Given the description of an element on the screen output the (x, y) to click on. 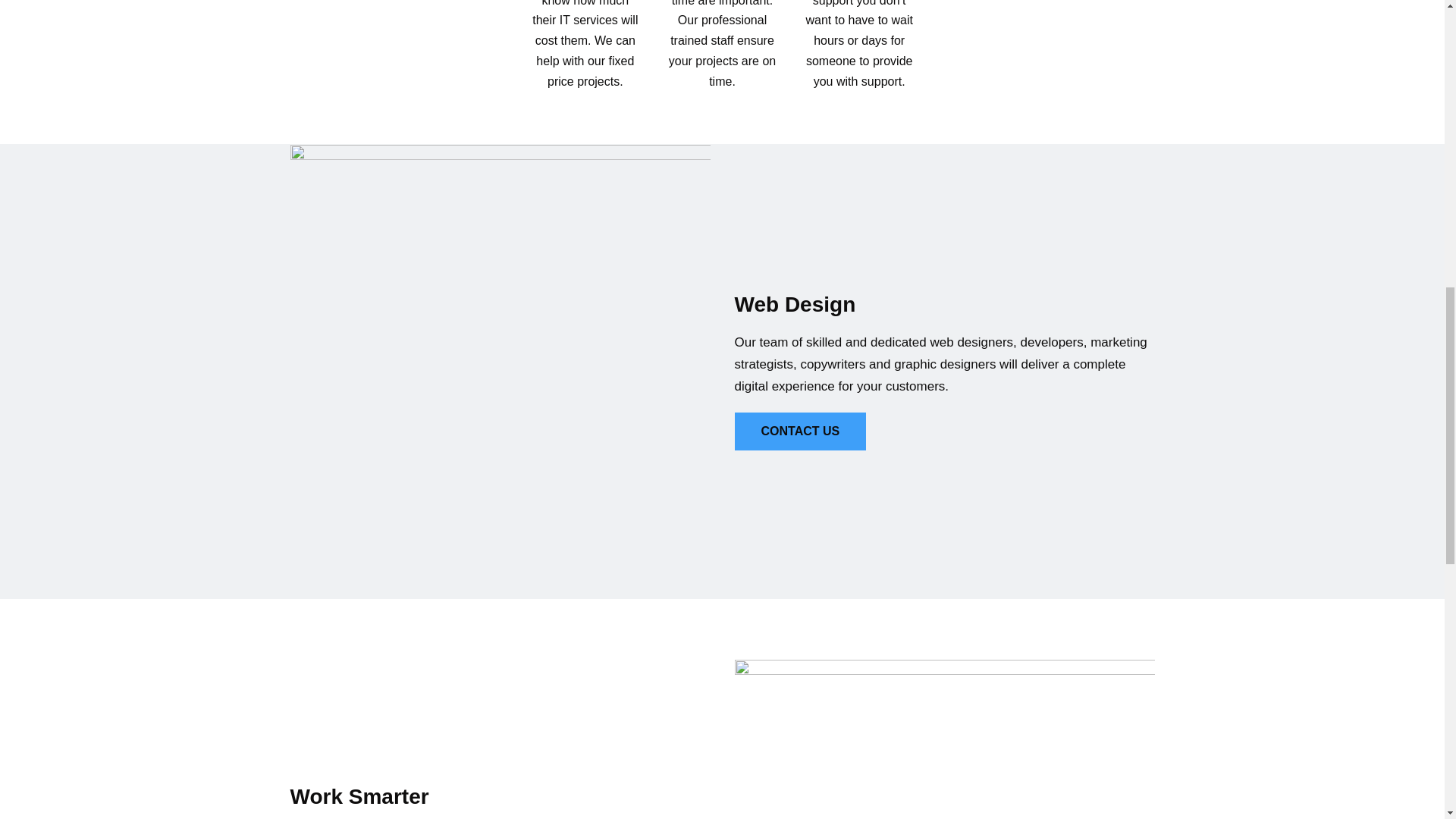
CONTACT US (799, 431)
